Given the description of an element on the screen output the (x, y) to click on. 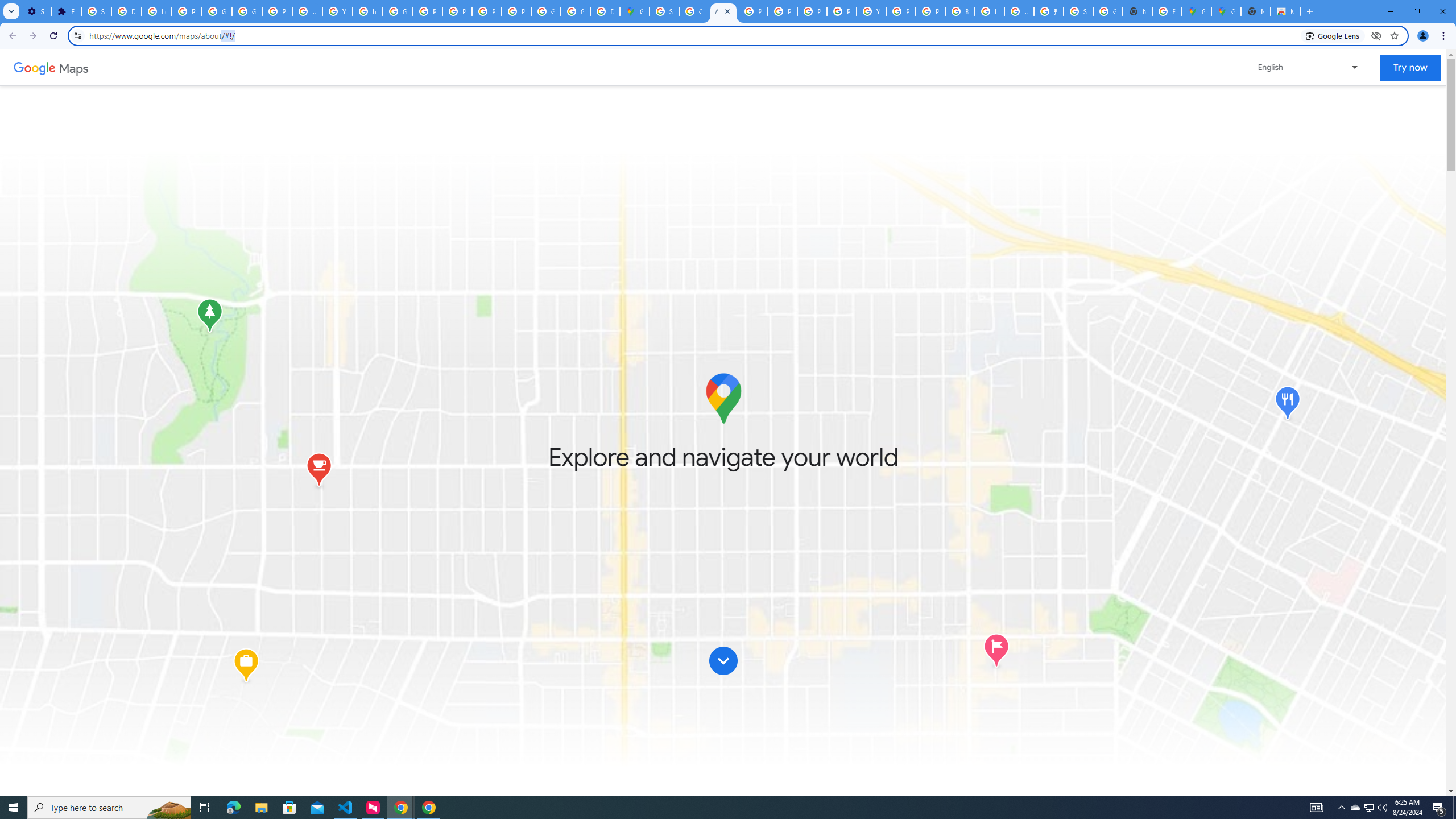
Sign in - Google Accounts (1077, 11)
New Tab (1255, 11)
Try now (1409, 67)
Create your Google Account (693, 11)
Search with Google Lens (1332, 35)
Delete photos & videos - Computer - Google Photos Help (126, 11)
https://scholar.google.com/ (367, 11)
